Given the description of an element on the screen output the (x, y) to click on. 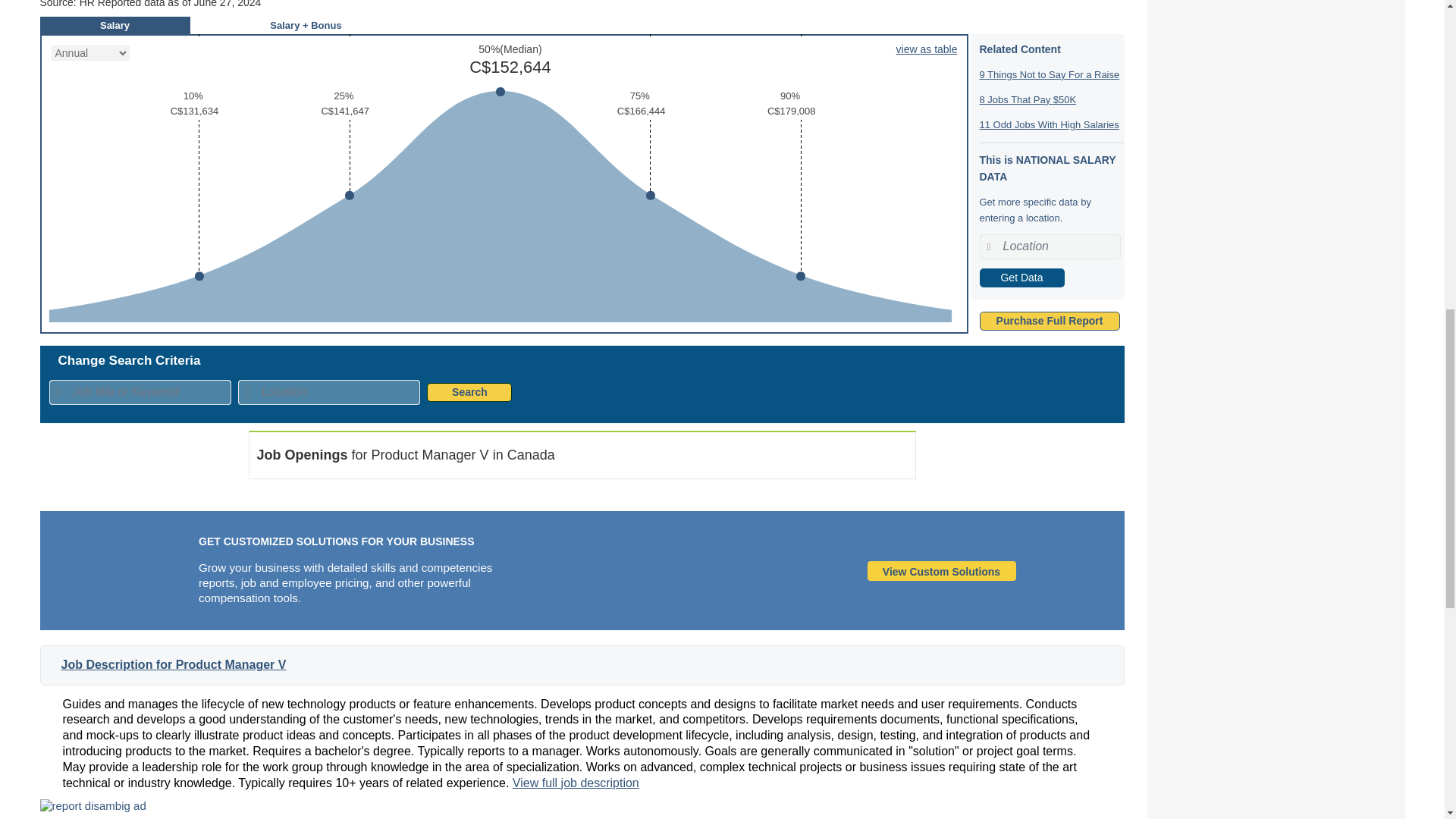
Purchase Full Report (1049, 320)
Get Data (1021, 277)
View full job description (575, 782)
View Custom Solutions (941, 570)
view as table (927, 49)
11 Odd Jobs With High Salaries (1049, 124)
Search (469, 392)
Job Description for Product Manager V (173, 664)
9 Things Not to Say For a Raise (1049, 74)
Search (469, 392)
